Given the description of an element on the screen output the (x, y) to click on. 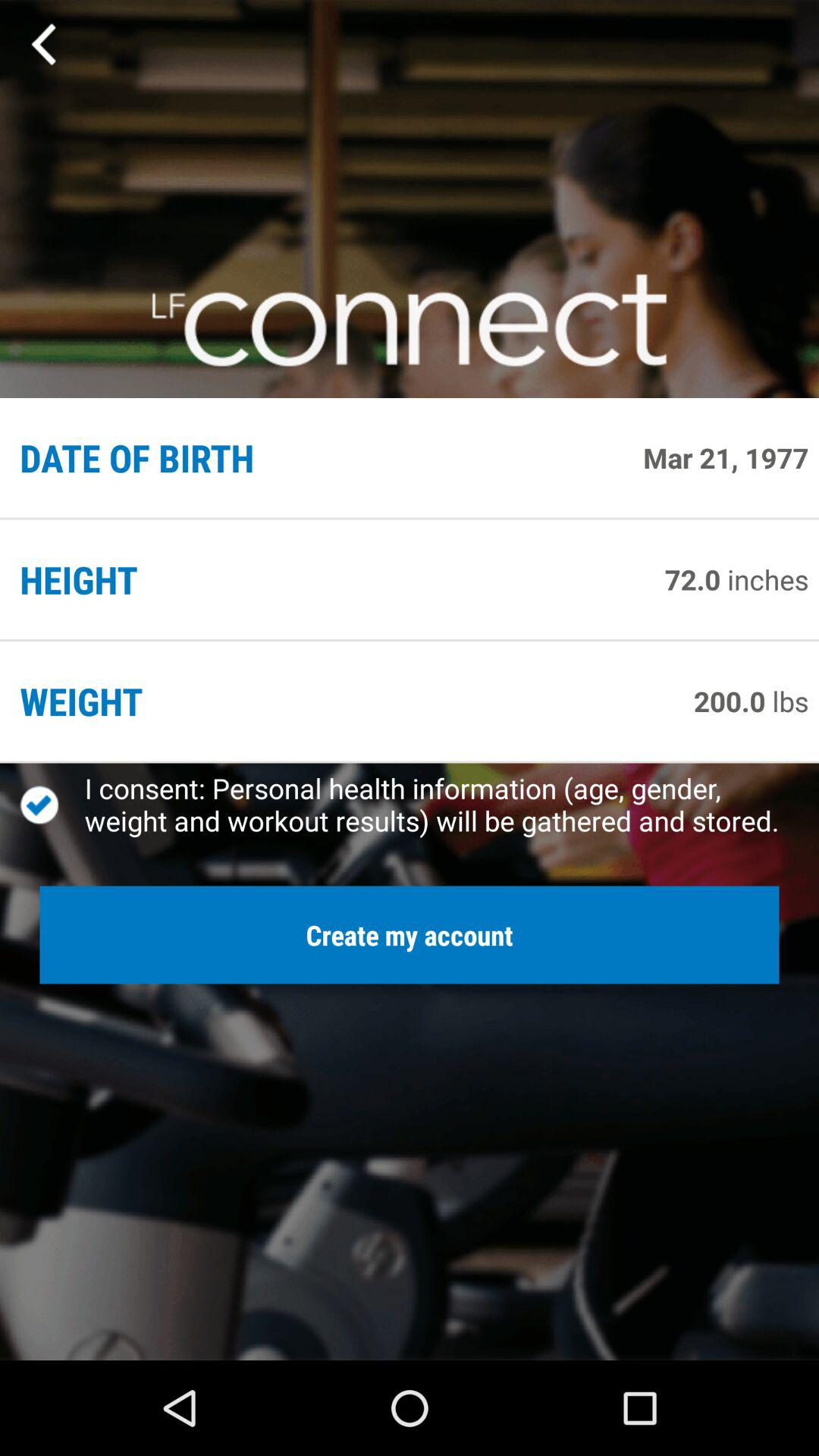
go back (44, 44)
